Given the description of an element on the screen output the (x, y) to click on. 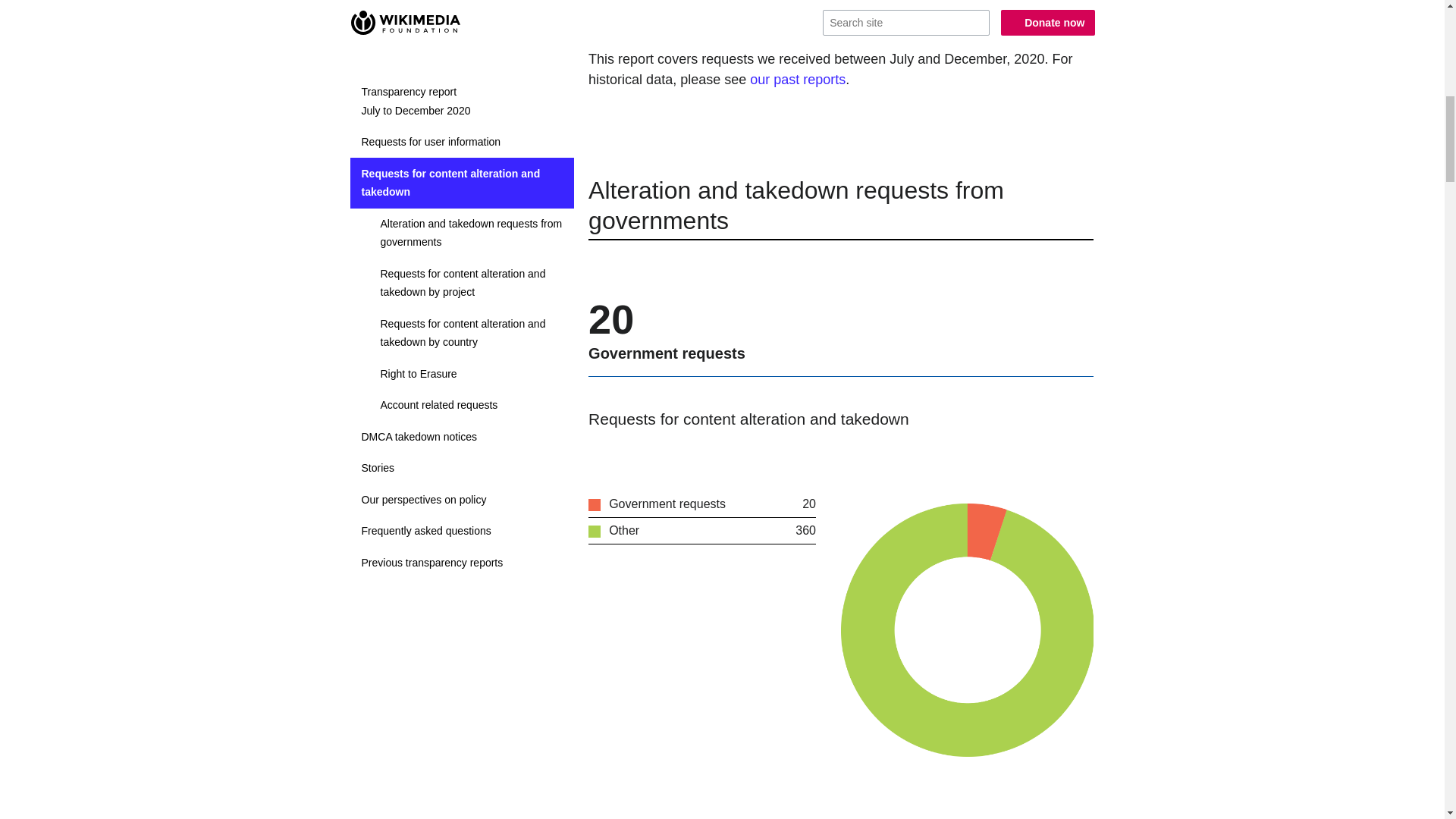
FAQ (699, 23)
our past reports (797, 79)
